Given the description of an element on the screen output the (x, y) to click on. 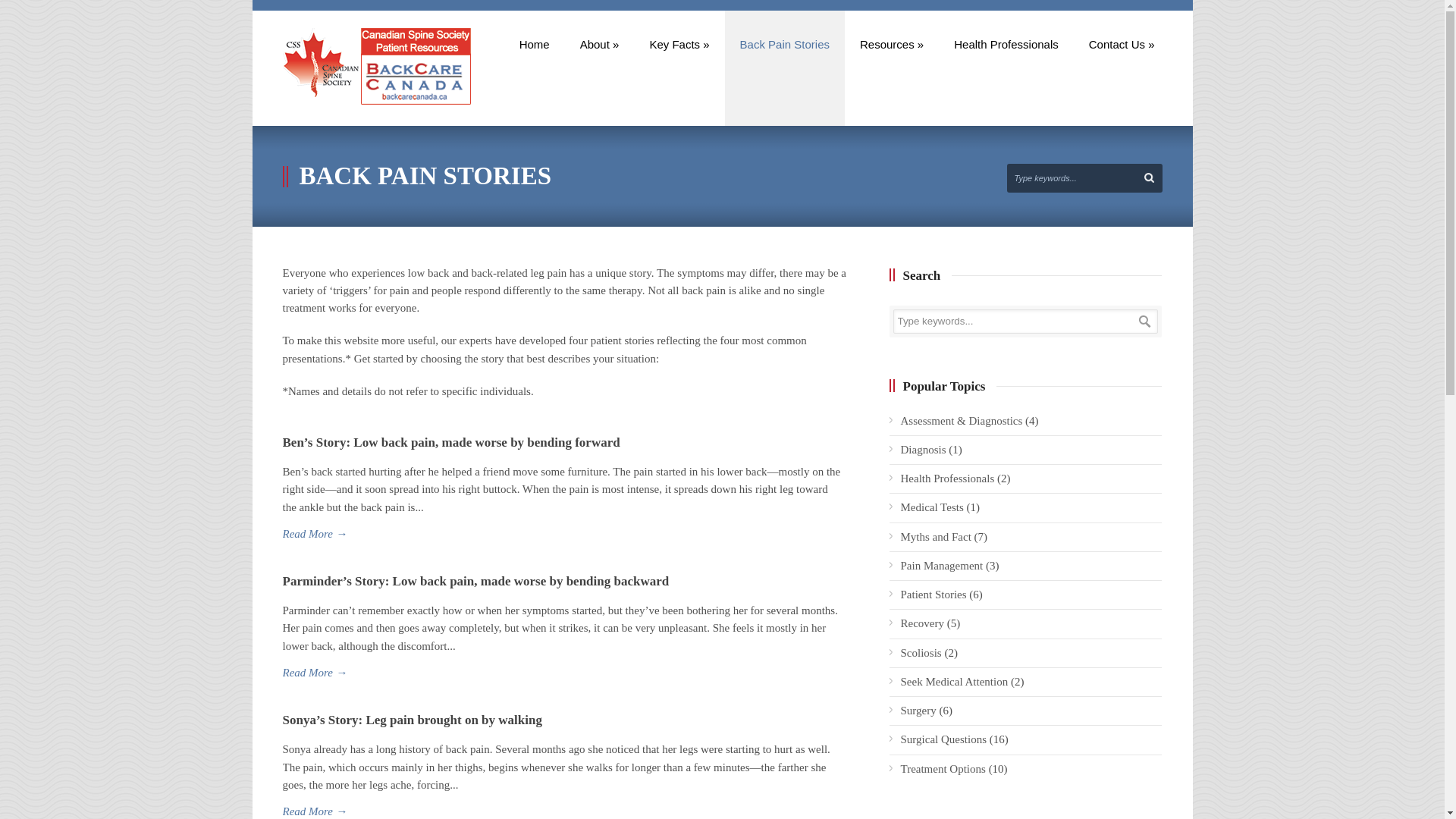
Treatment Options Element type: text (942, 768)
Pain Management Element type: text (941, 565)
Surgical Questions Element type: text (943, 739)
Seek Medical Attention Element type: text (954, 681)
Surgery Element type: text (918, 710)
Diagnosis Element type: text (923, 449)
Recovery Element type: text (922, 623)
Myths and Fact Element type: text (935, 536)
Assessment & Diagnostics Element type: text (961, 420)
Health Professionals Element type: text (947, 478)
Scoliosis Element type: text (920, 652)
Patient Stories Element type: text (933, 594)
Medical Tests Element type: text (931, 507)
